Given the description of an element on the screen output the (x, y) to click on. 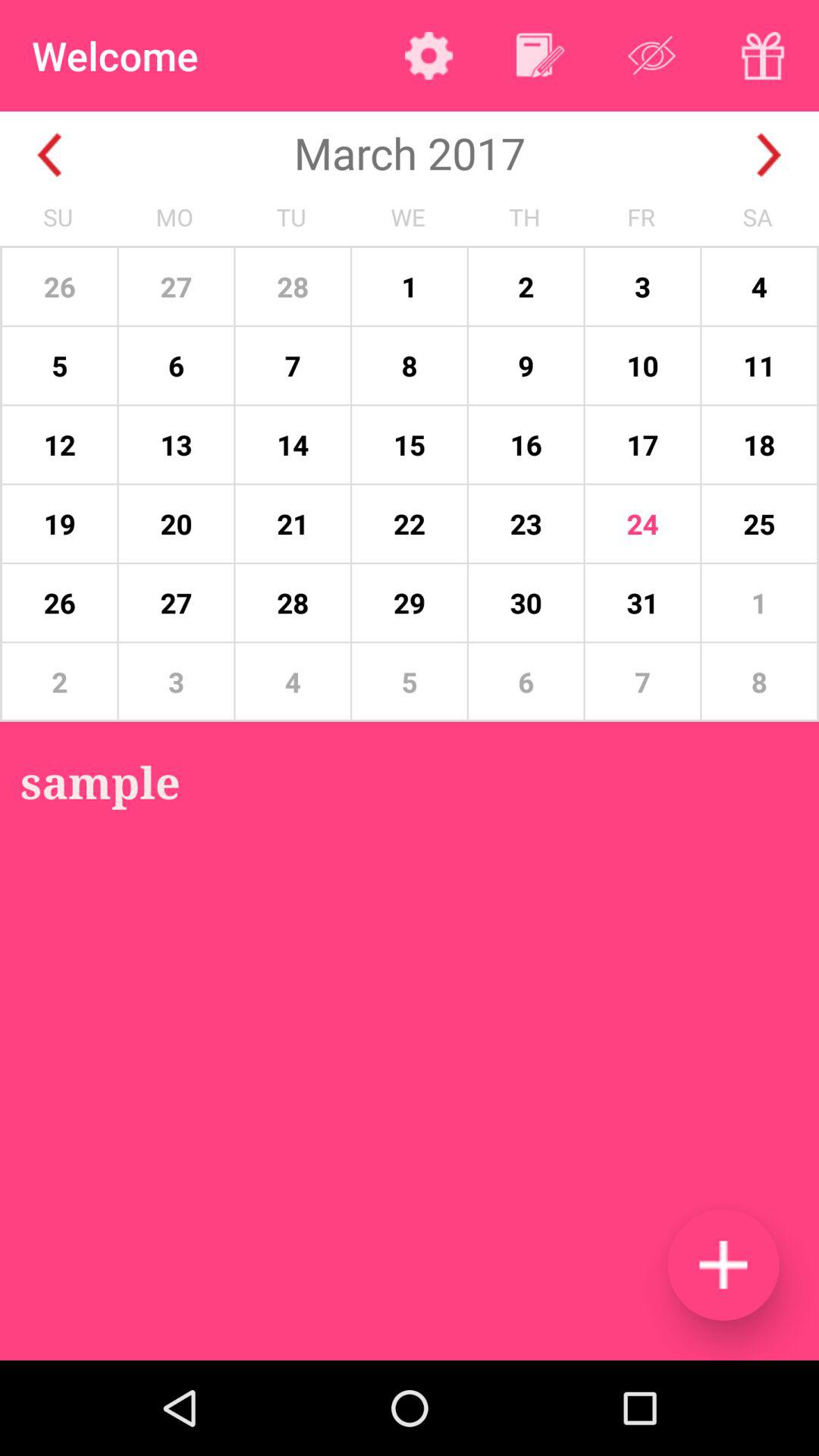
options (428, 55)
